Given the description of an element on the screen output the (x, y) to click on. 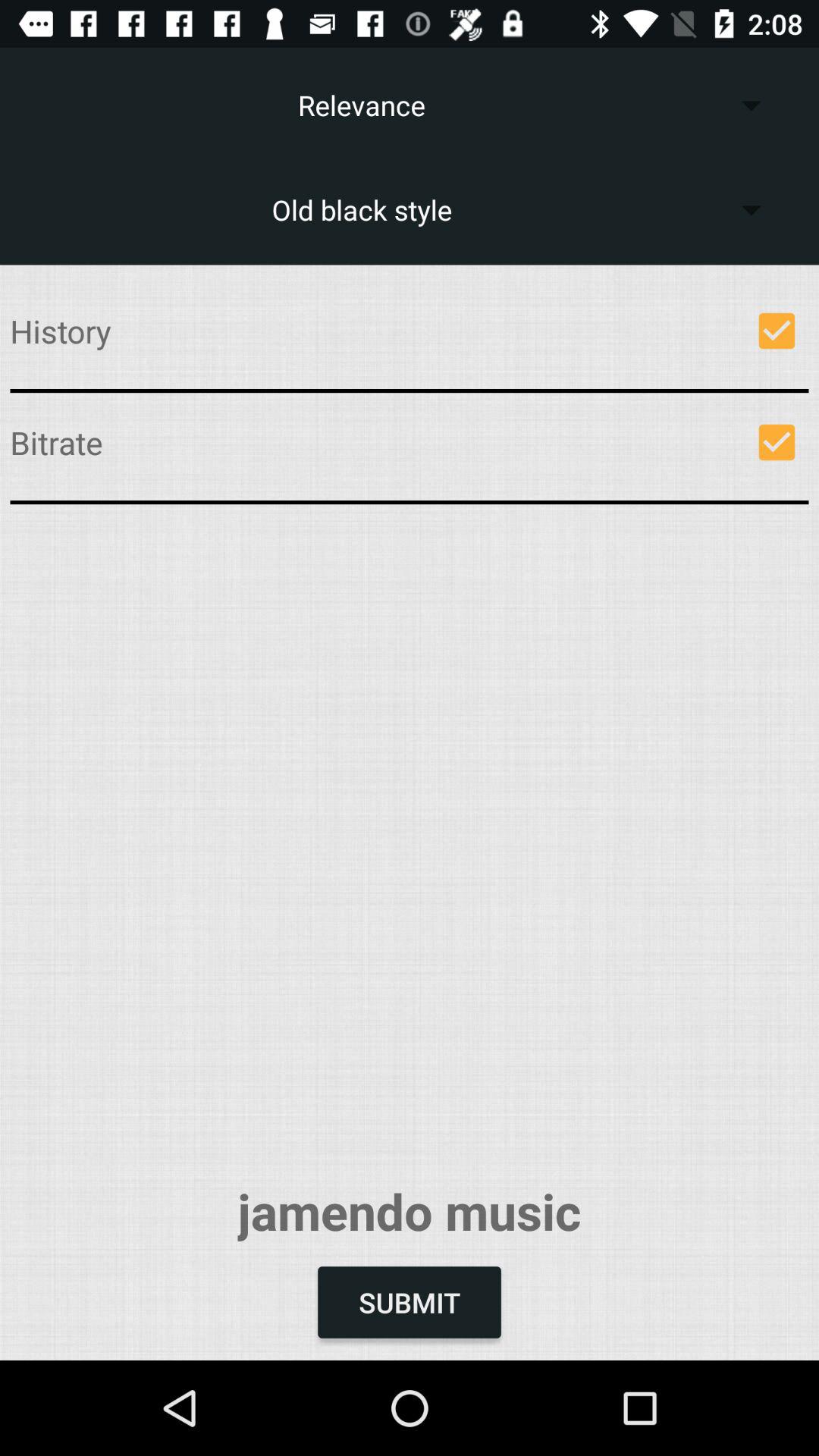
click icon next to bitrate icon (776, 442)
